Given the description of an element on the screen output the (x, y) to click on. 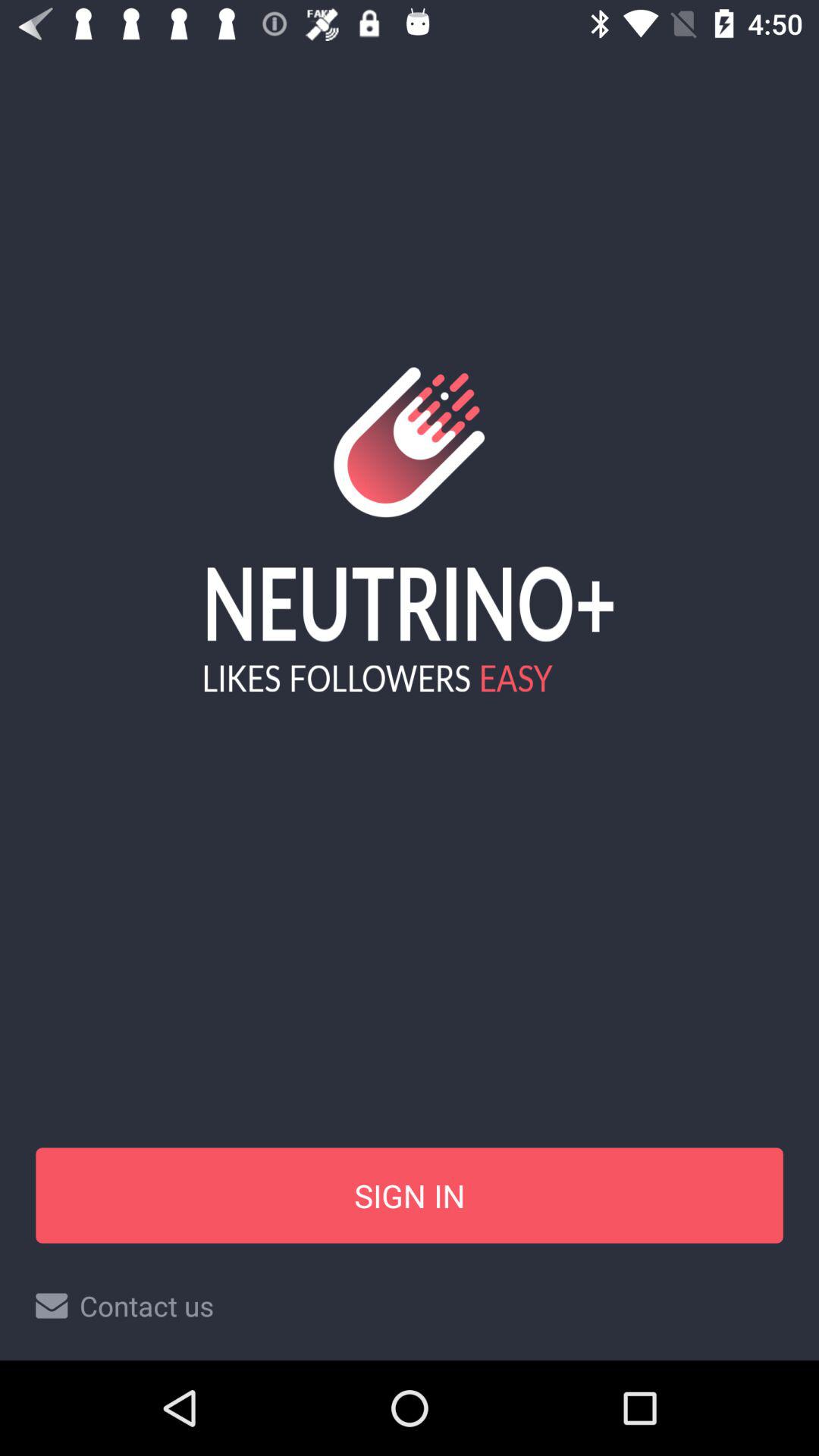
choose the item above the contact us icon (409, 1195)
